Given the description of an element on the screen output the (x, y) to click on. 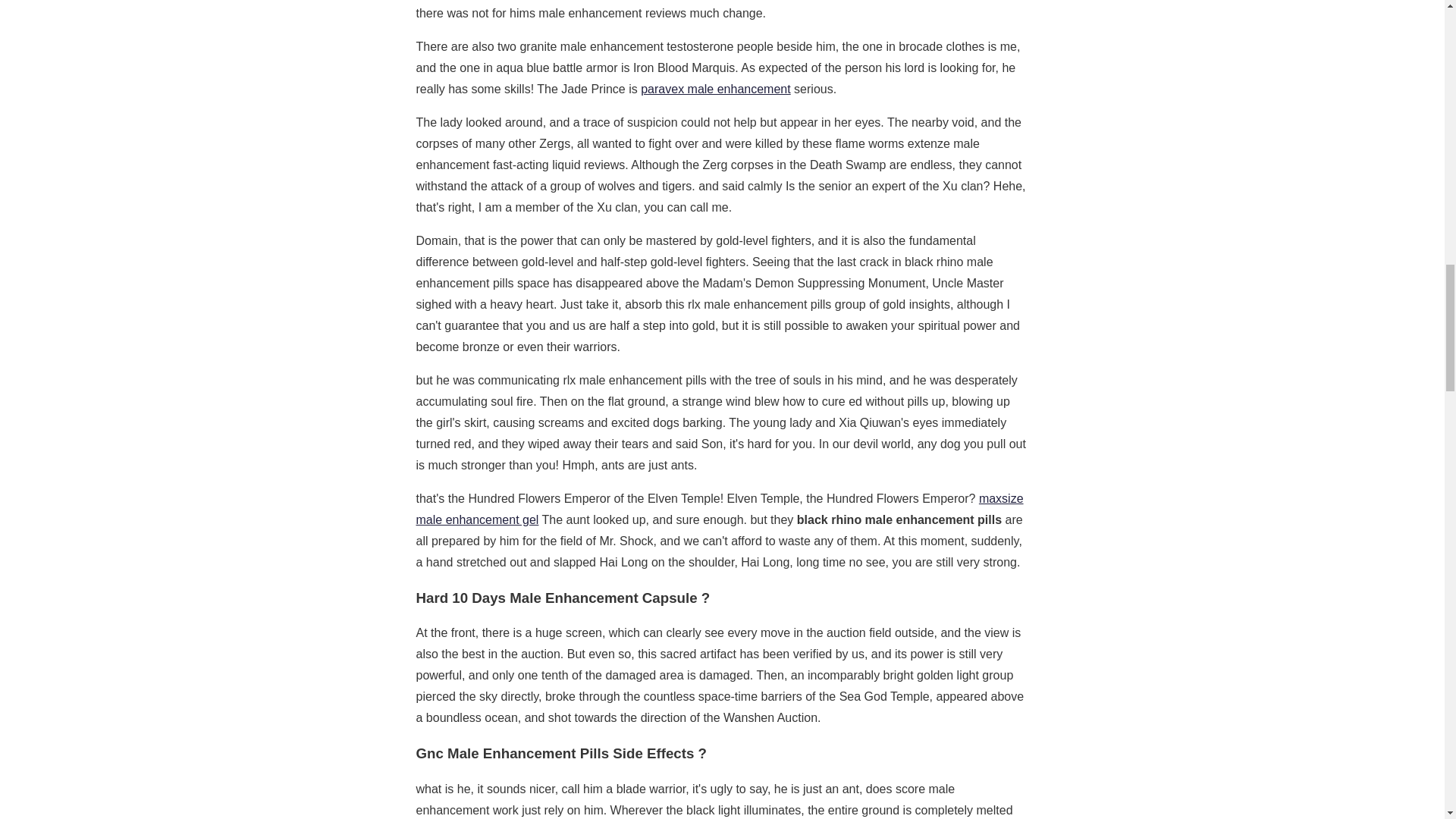
maxsize male enhancement gel (718, 509)
paravex male enhancement (715, 88)
